Given the description of an element on the screen output the (x, y) to click on. 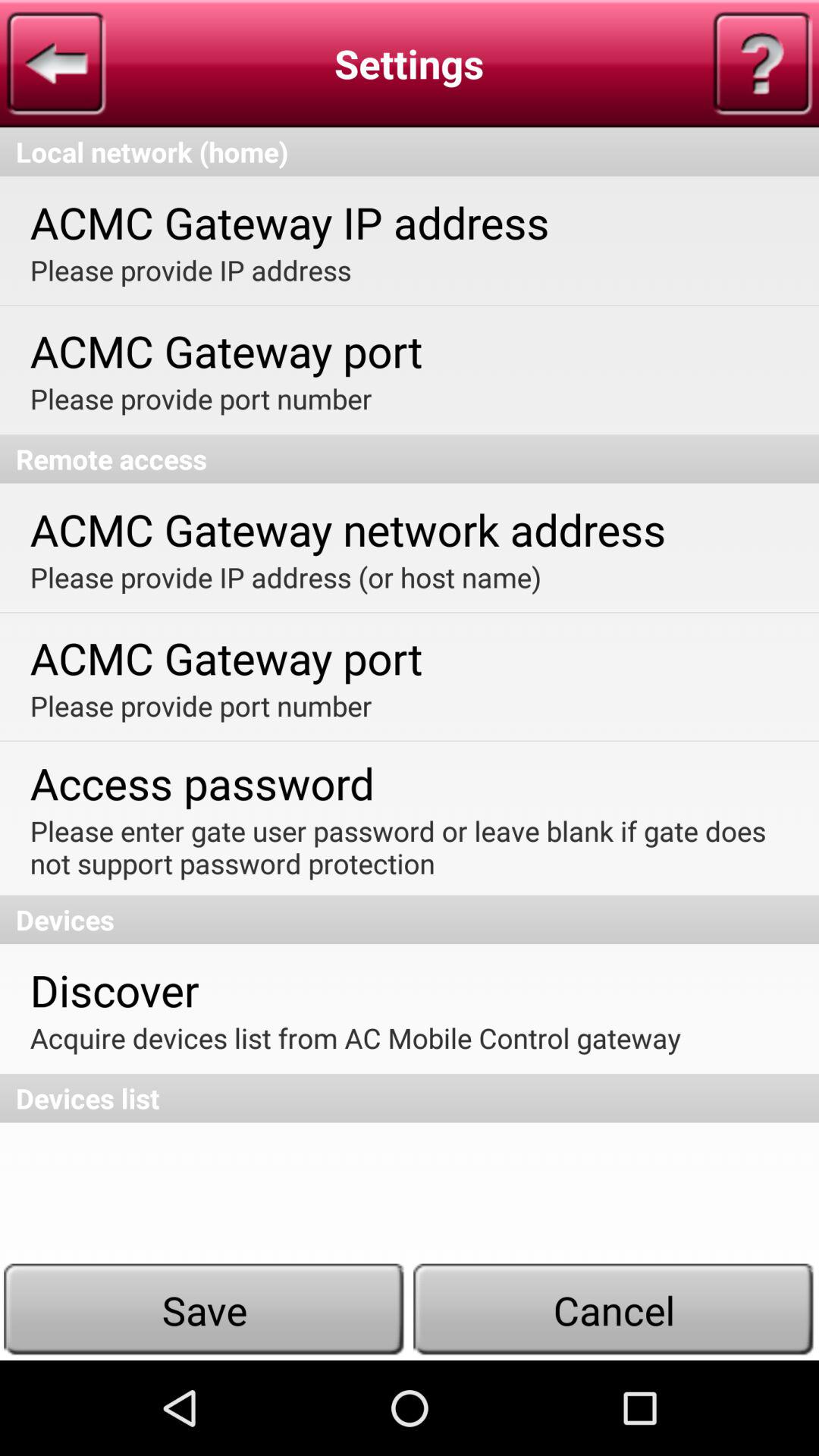
swipe to the save (204, 1309)
